Given the description of an element on the screen output the (x, y) to click on. 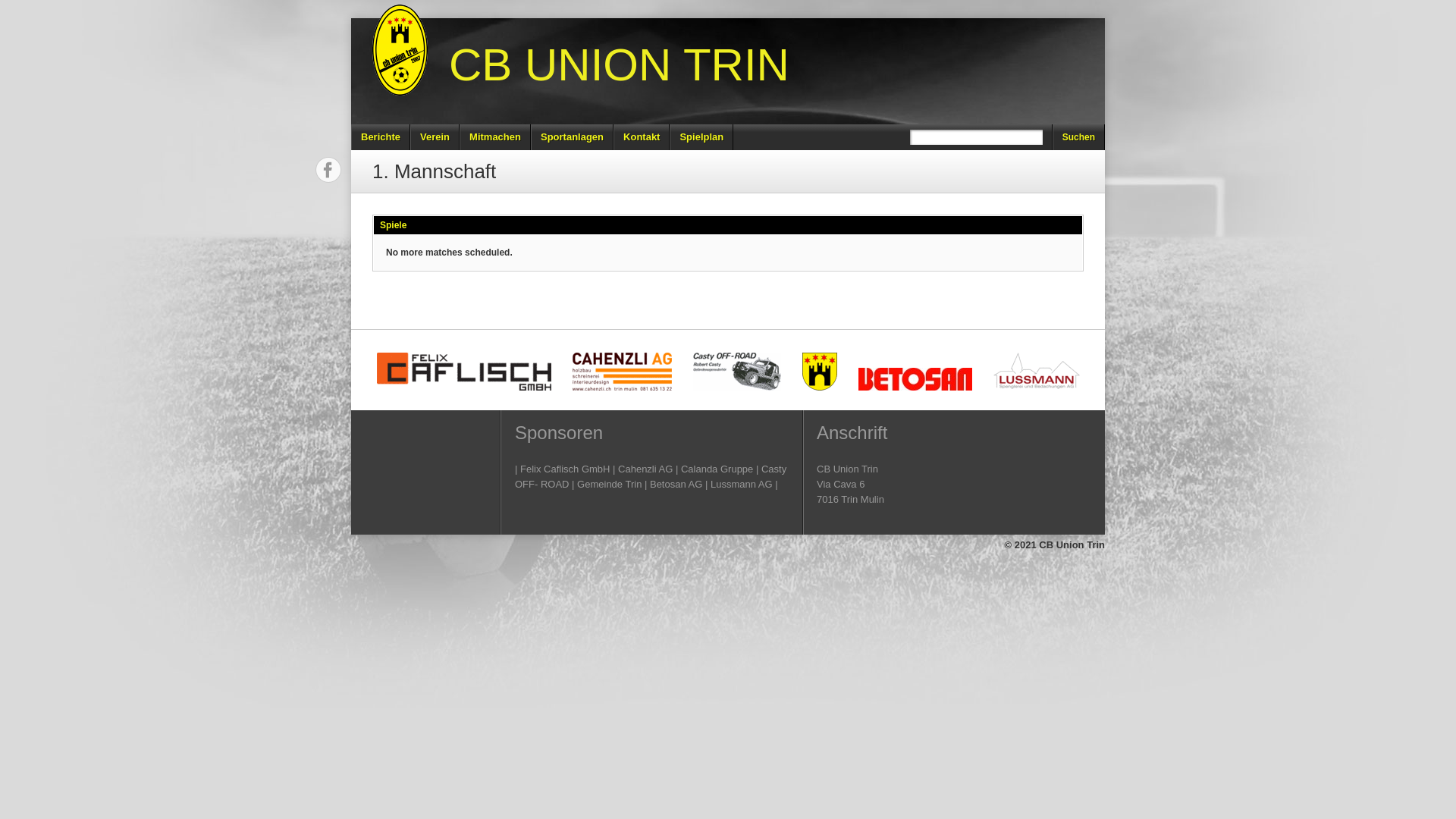
Gemeinde Trin Element type: hover (819, 371)
Lussmann AG Element type: hover (1036, 371)
BETOSAN AG Element type: hover (915, 378)
CB UNION TRIN Element type: text (612, 64)
Berichte Element type: text (380, 137)
Suchen Element type: text (1078, 137)
Casty Off-Road Element type: hover (737, 371)
Cahenzli AG Element type: hover (621, 371)
Kontakt Element type: text (641, 137)
Facebook Element type: text (328, 169)
Spielplan Element type: text (701, 137)
Verein Element type: text (434, 137)
Felix Caflisch GmbH Element type: hover (463, 371)
Sportanlagen Element type: text (571, 137)
Mitmachen Element type: text (495, 137)
